Given the description of an element on the screen output the (x, y) to click on. 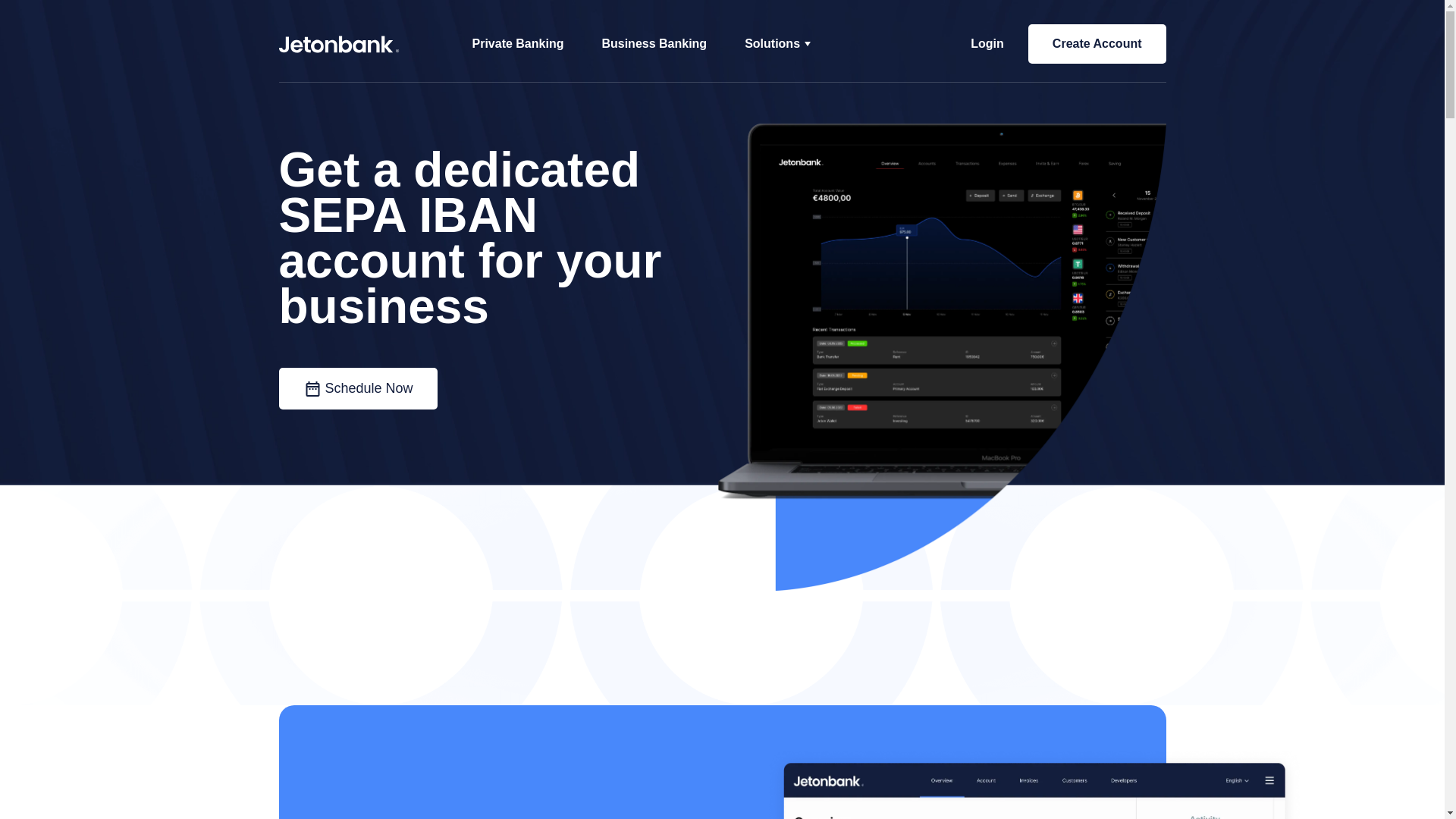
Private Banking (517, 42)
Schedule Now (358, 388)
Business Banking (653, 42)
Login (987, 44)
Create Account (1096, 43)
